Given the description of an element on the screen output the (x, y) to click on. 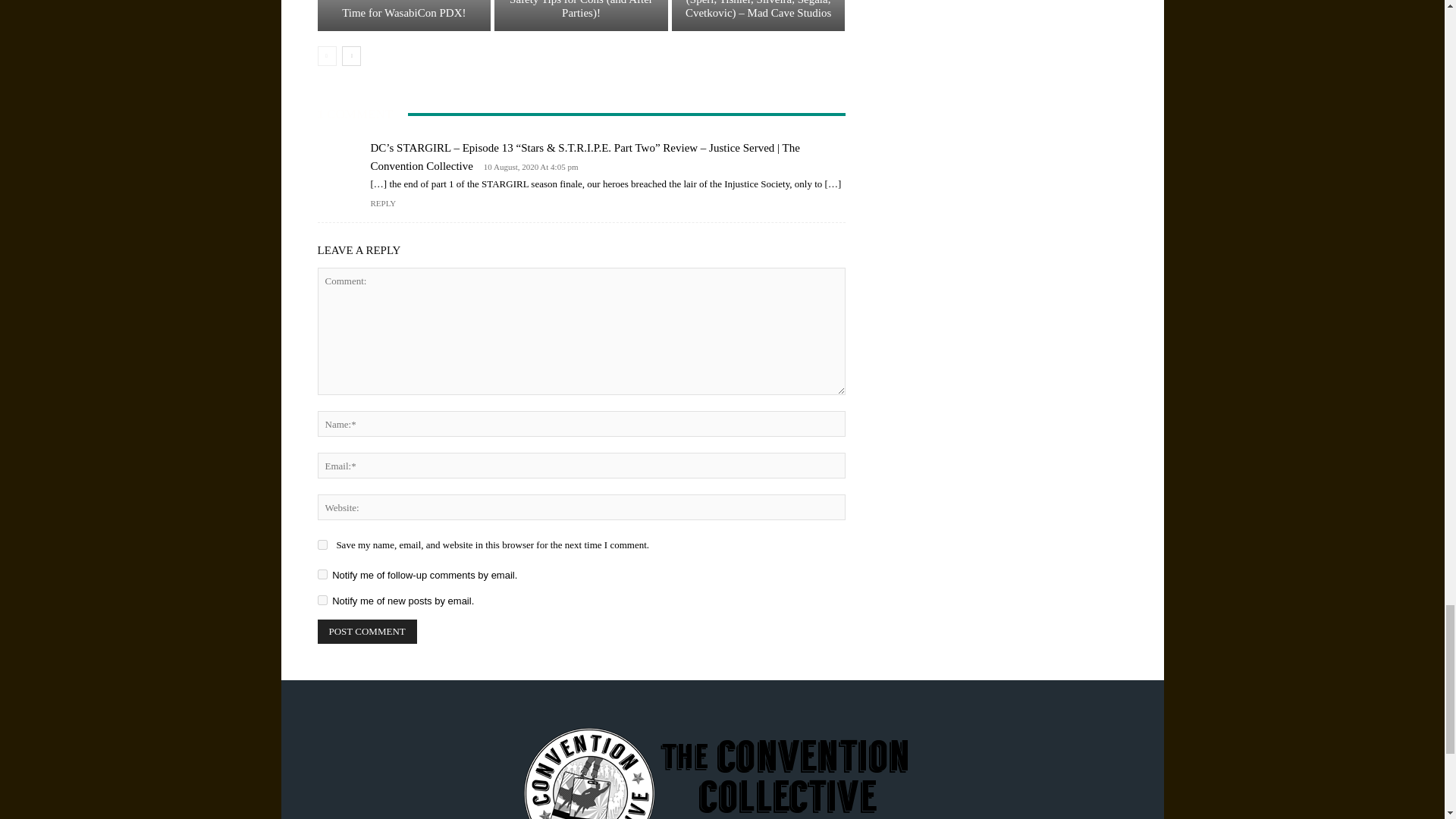
yes (321, 544)
subscribe (321, 600)
Post Comment (366, 631)
subscribe (321, 574)
